Given the description of an element on the screen output the (x, y) to click on. 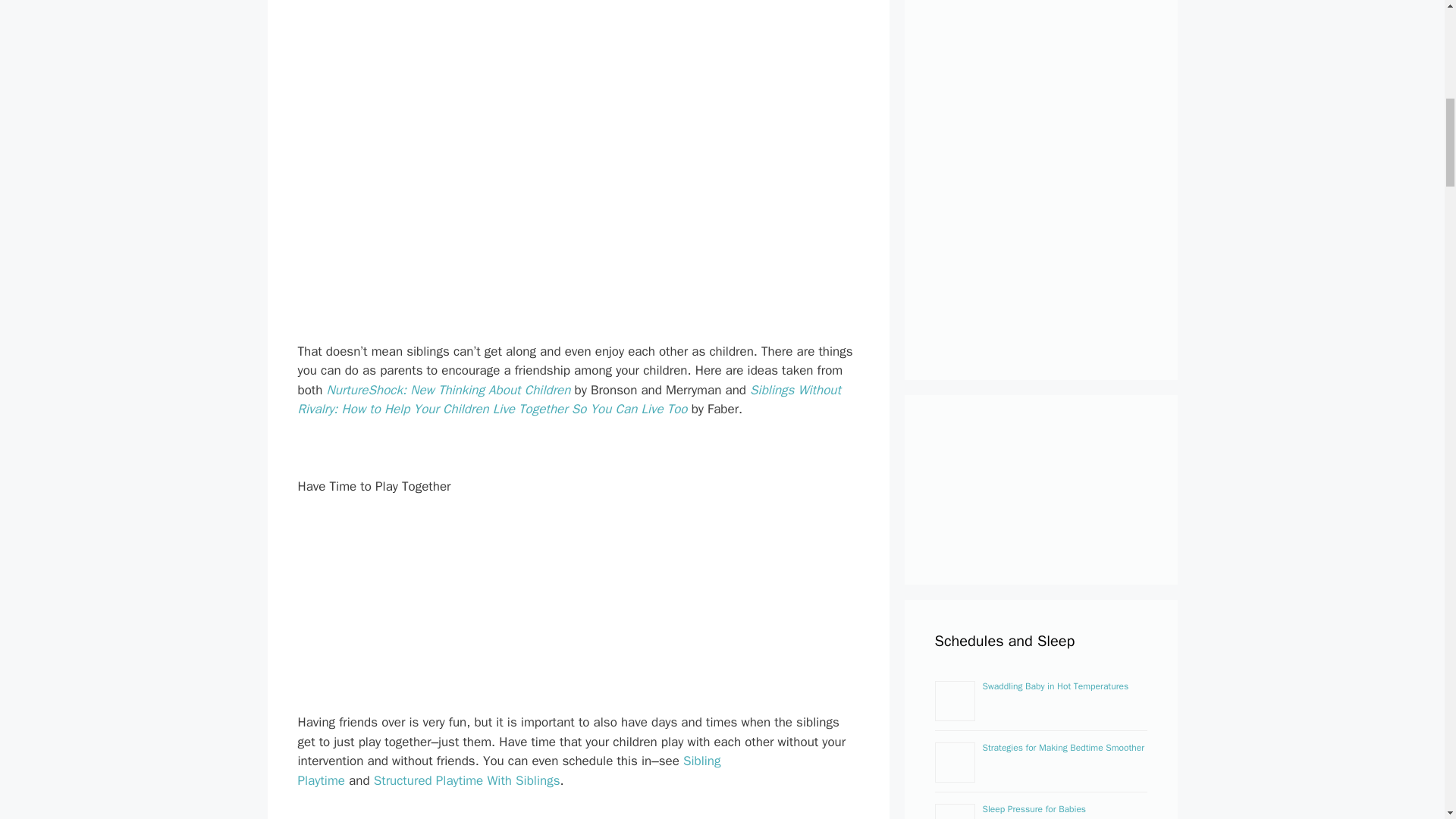
Scroll back to top (1406, 720)
